Given the description of an element on the screen output the (x, y) to click on. 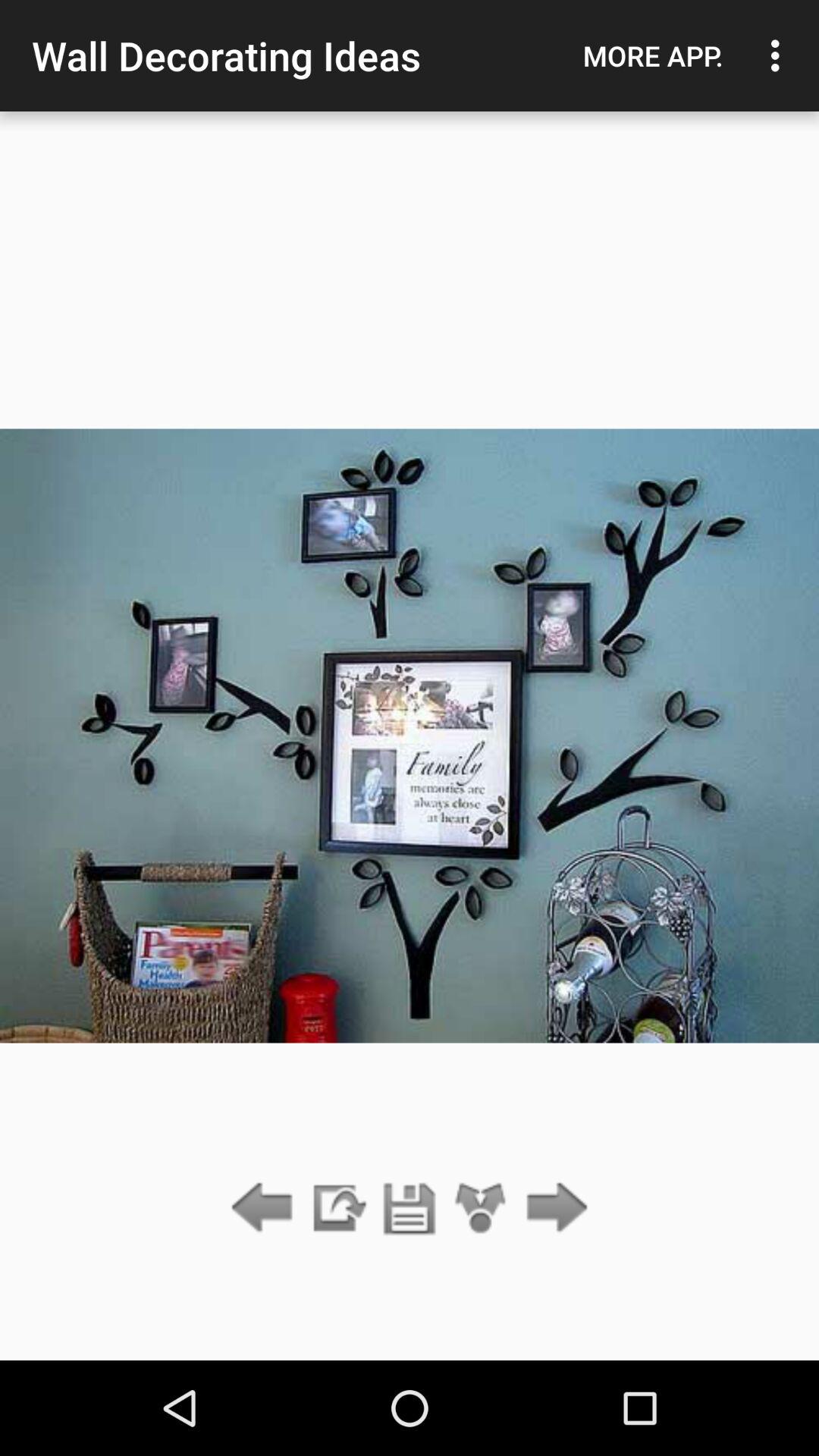
choose item to the right of the more app. (779, 55)
